Given the description of an element on the screen output the (x, y) to click on. 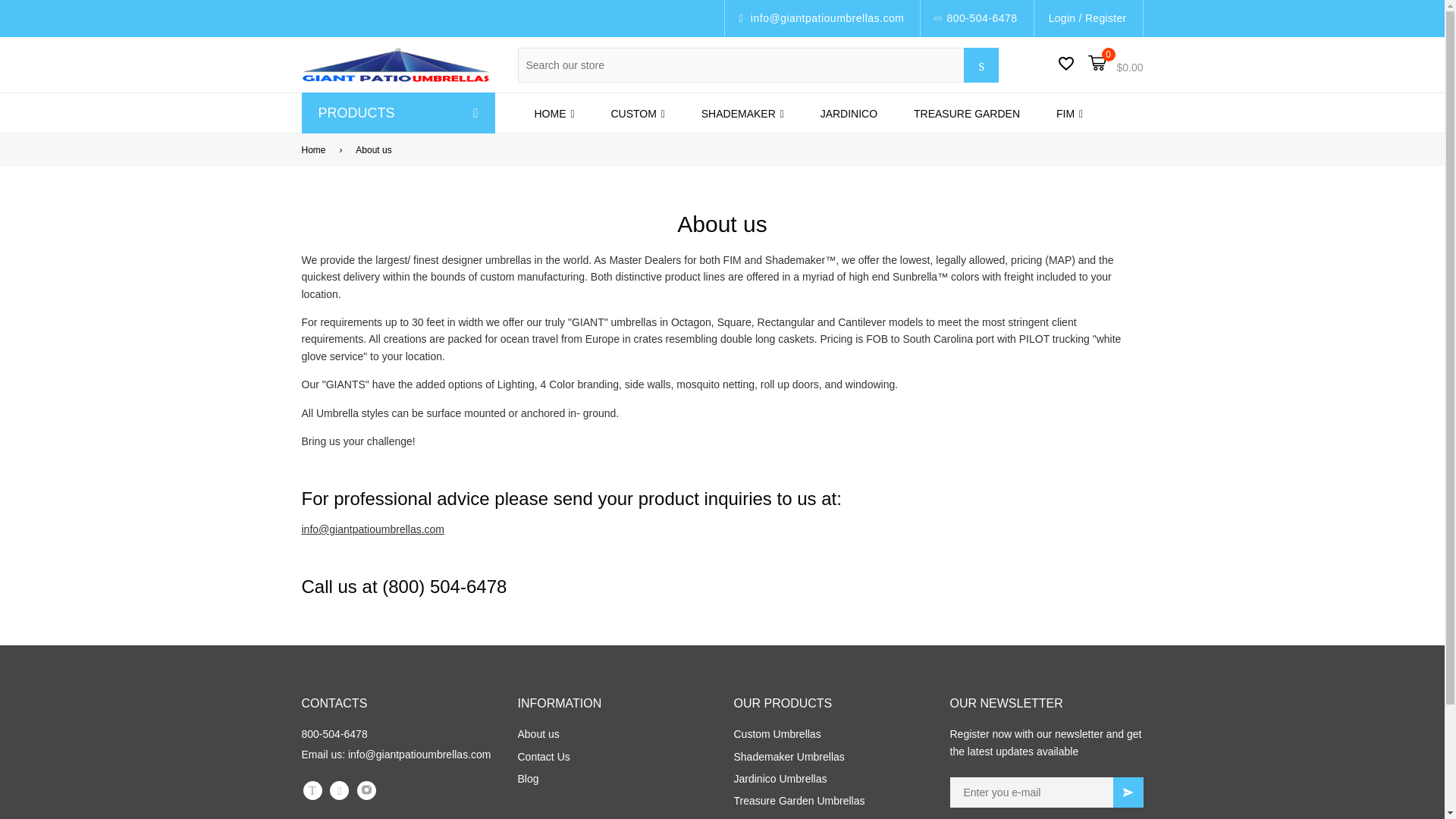
Back to the home page (316, 150)
